Given the description of an element on the screen output the (x, y) to click on. 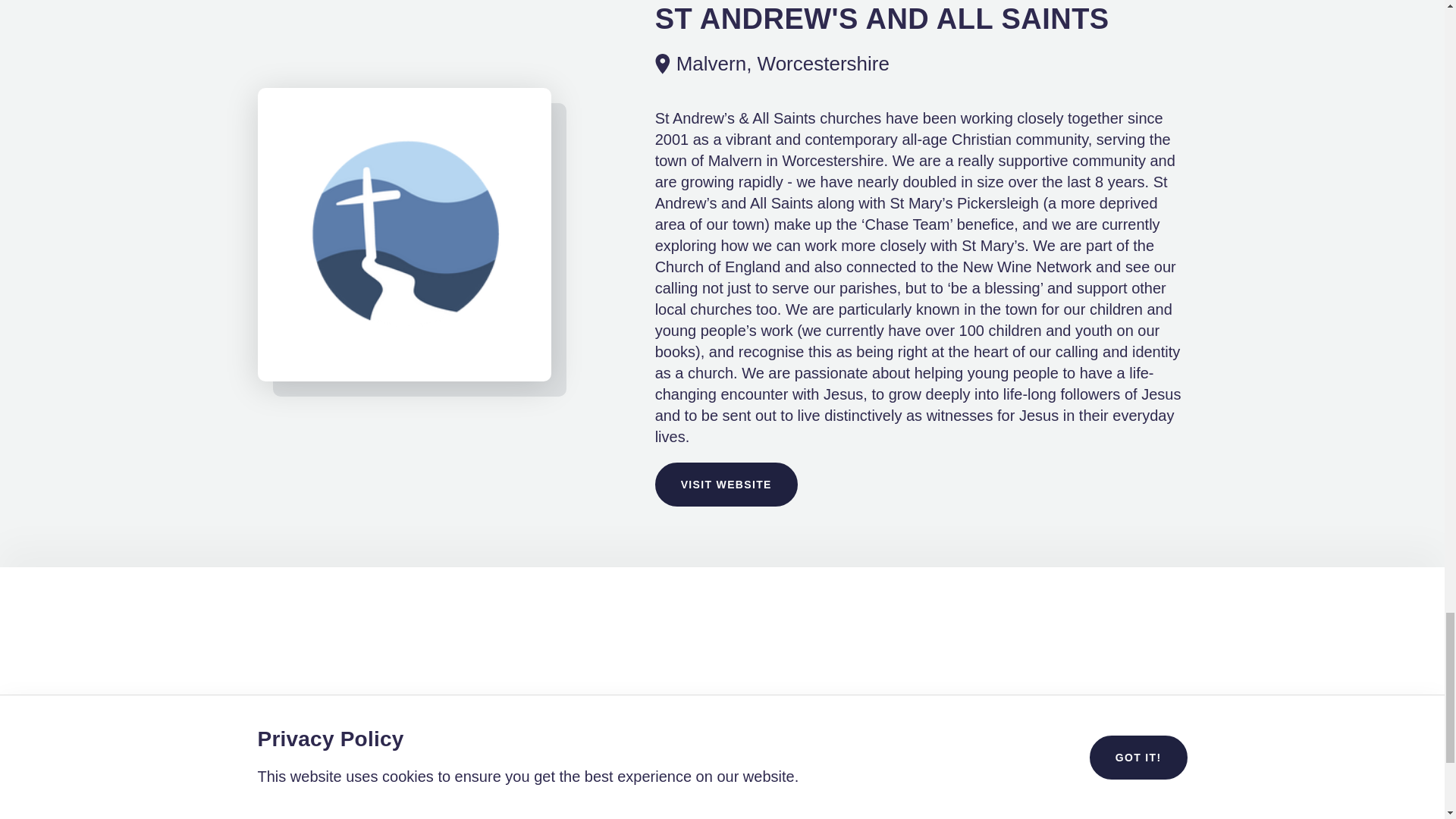
VISIT WEBSITE (726, 484)
